Given the description of an element on the screen output the (x, y) to click on. 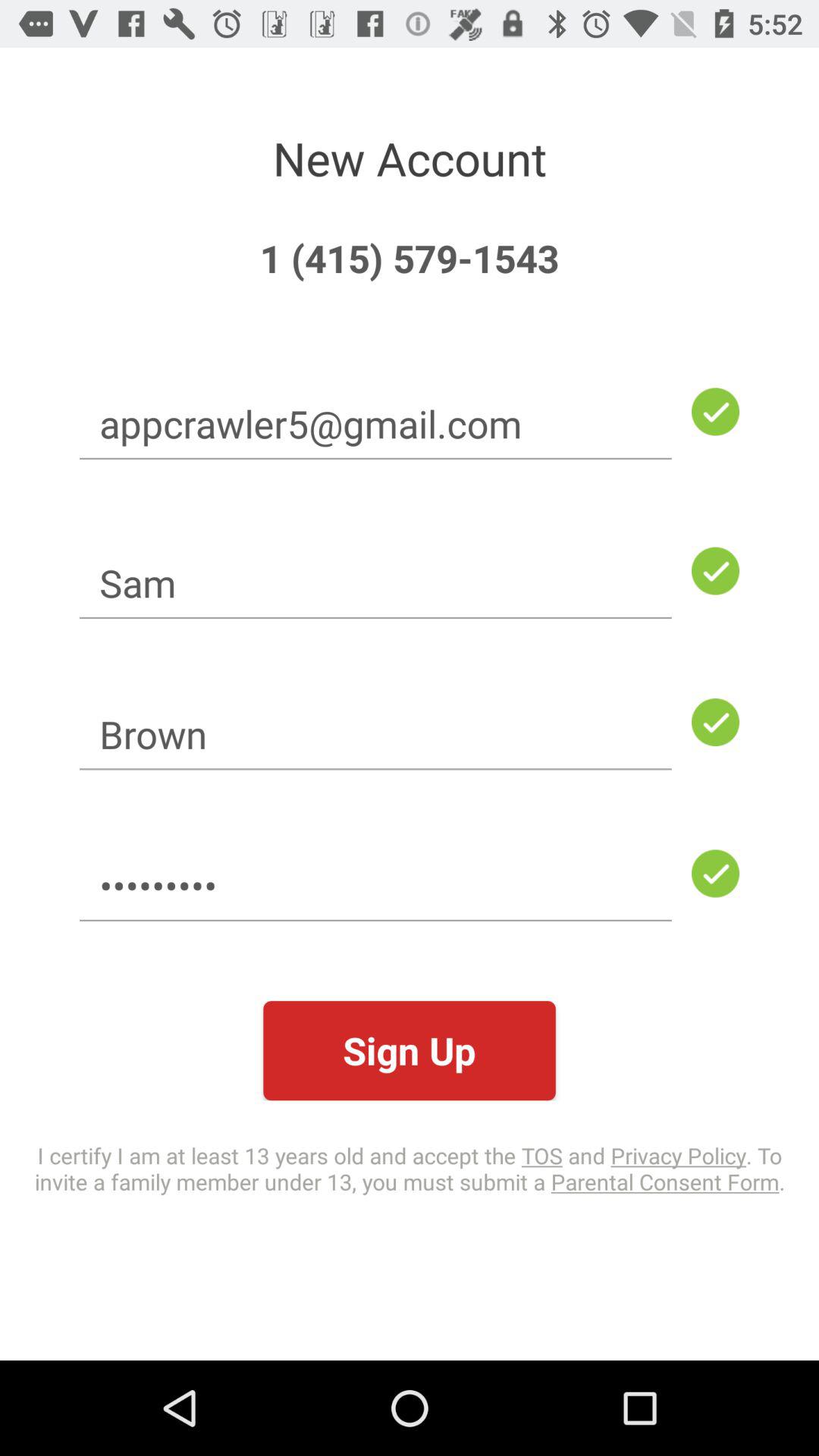
turn on the item above crowd3116 icon (375, 734)
